Given the description of an element on the screen output the (x, y) to click on. 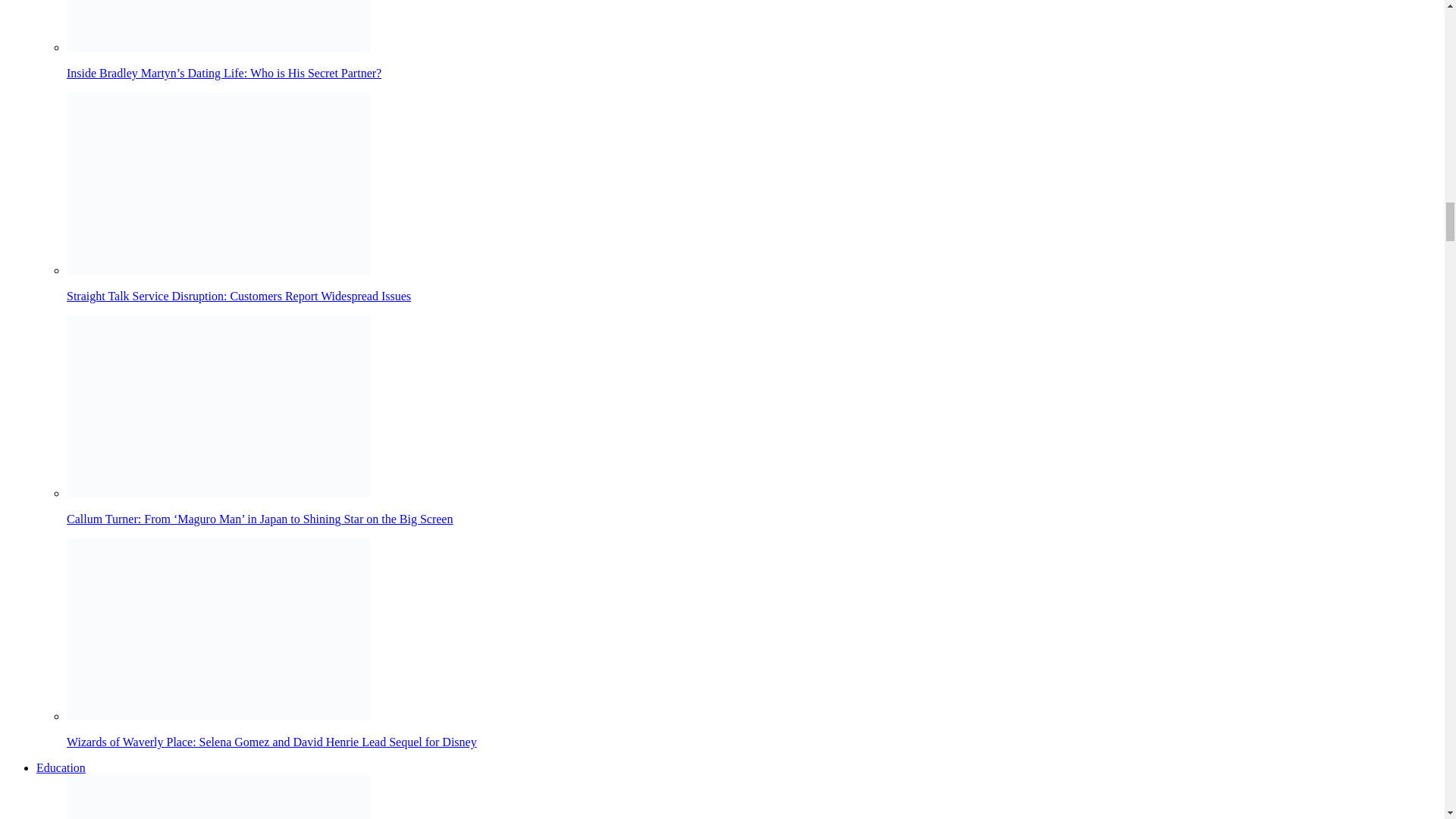
Education (60, 767)
